Given the description of an element on the screen output the (x, y) to click on. 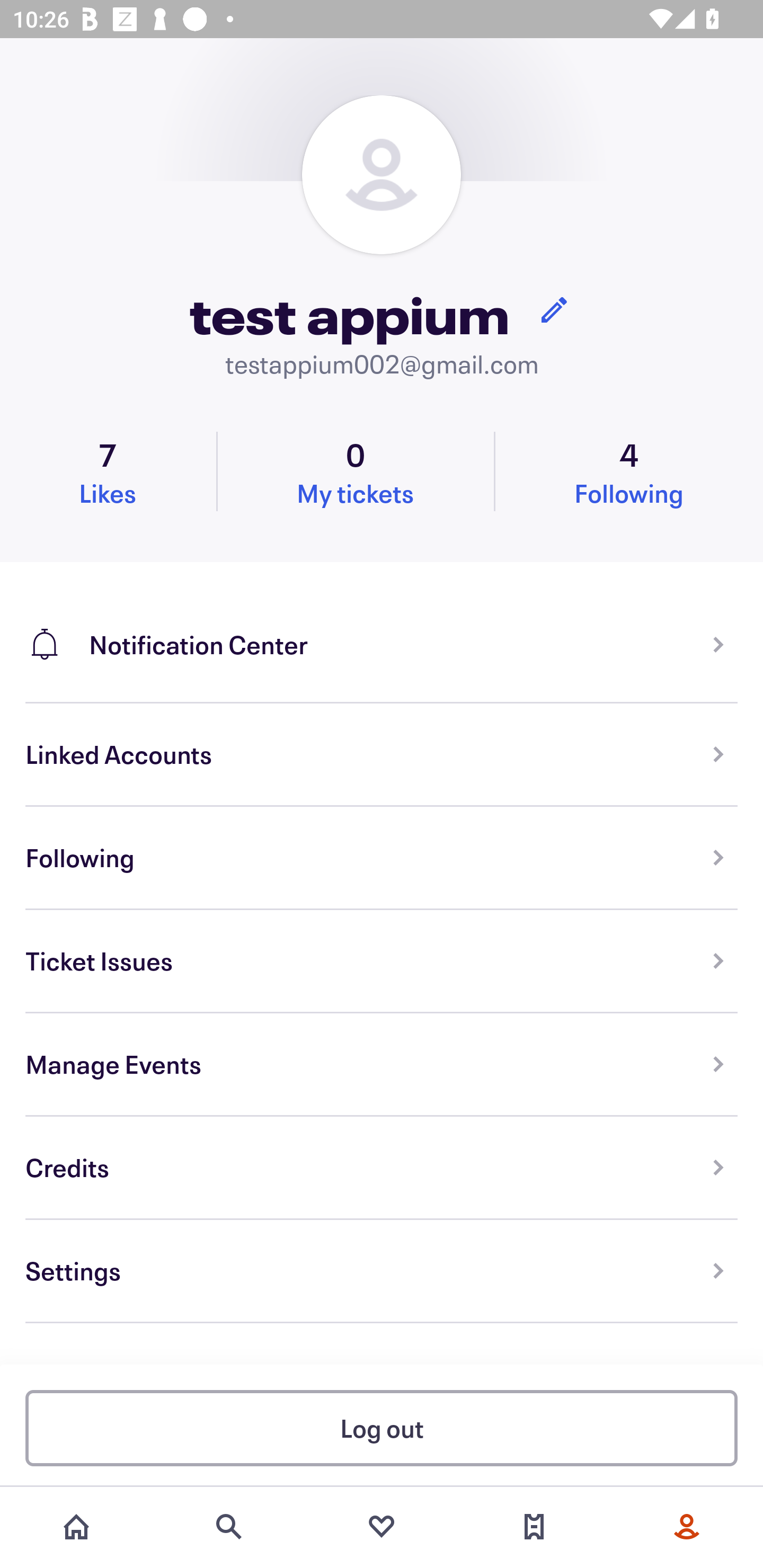
test appium testappium002@gmail.com (381, 238)
7 Likes (107, 470)
0 My tickets (355, 470)
4 Following (629, 470)
Notification Center (381, 632)
Linked Accounts (381, 755)
Following (381, 858)
Ticket Issues (381, 960)
Manage Events (381, 1064)
Credits (381, 1167)
Settings (381, 1271)
Log out (381, 1427)
Home (76, 1526)
Search events (228, 1526)
Favorites (381, 1526)
Tickets (533, 1526)
More (686, 1526)
